Given the description of an element on the screen output the (x, y) to click on. 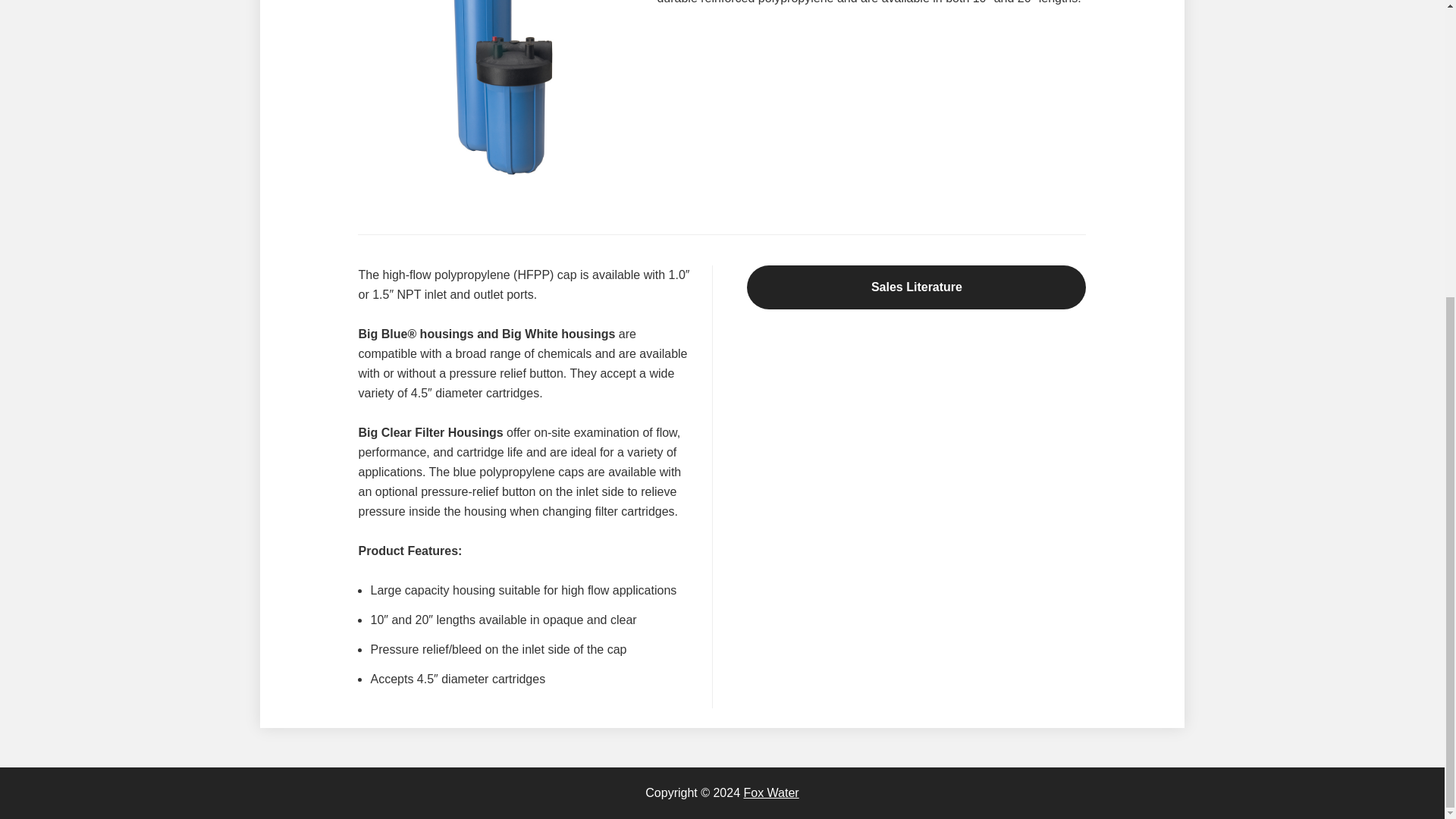
Big Blue Resized (497, 94)
Fox Water (769, 792)
Sales Literature (916, 287)
